Given the description of an element on the screen output the (x, y) to click on. 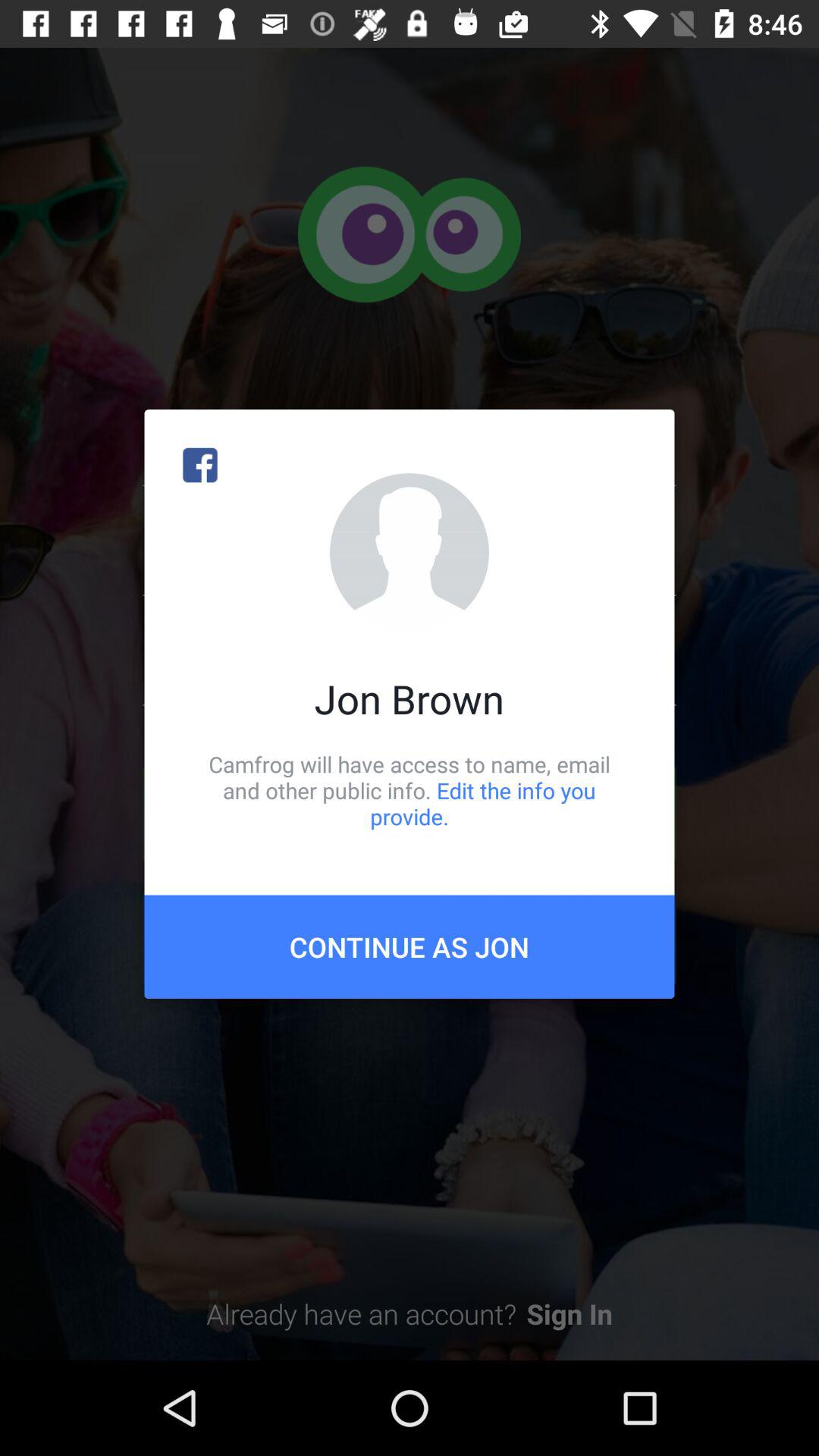
press icon below jon brown icon (409, 790)
